Given the description of an element on the screen output the (x, y) to click on. 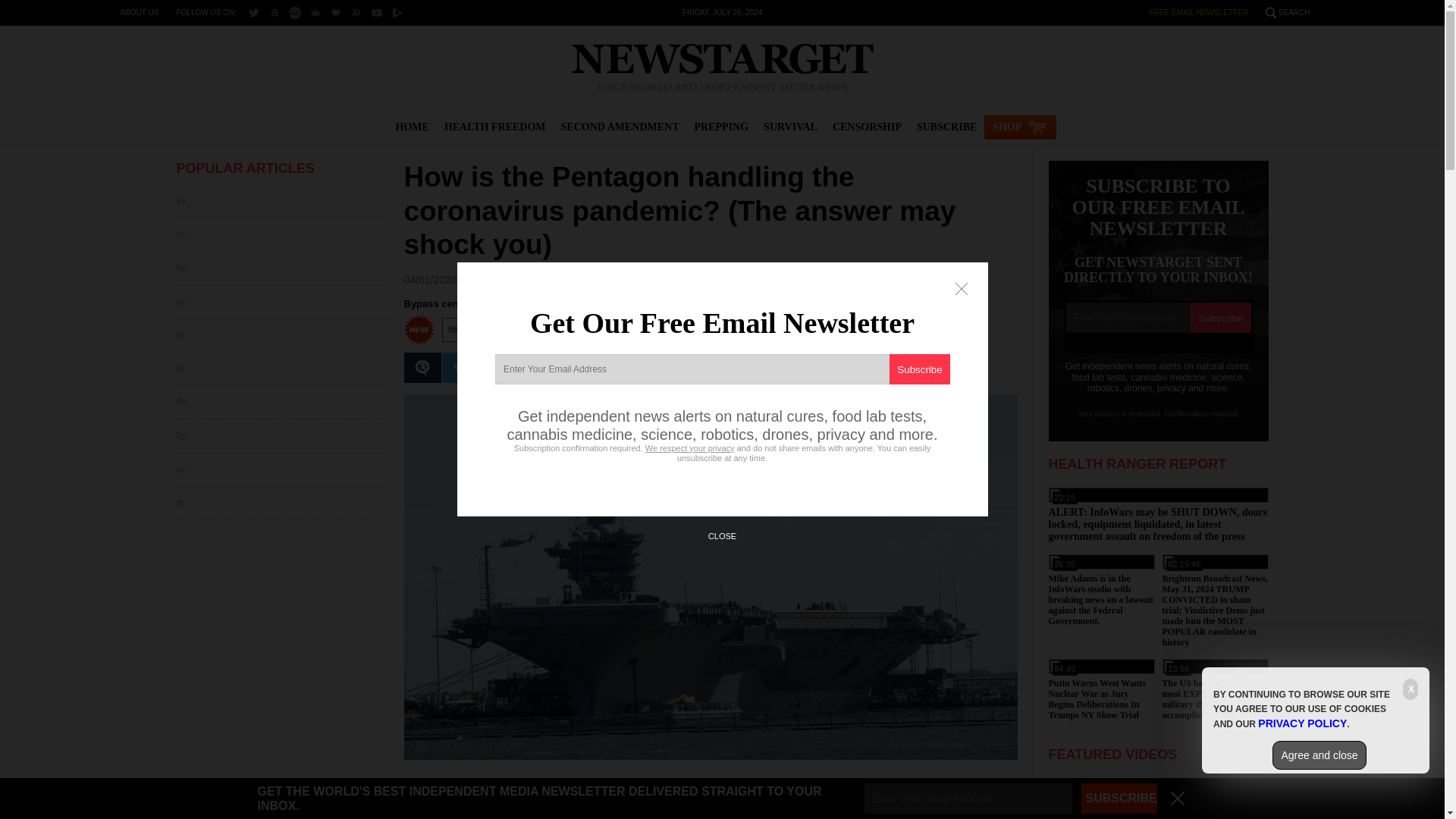
HOME (412, 127)
MeWe (294, 12)
Second Amendment (620, 127)
Copy URL (866, 329)
CENSORSHIP (866, 127)
Health Freedom (494, 127)
Subscribe (946, 127)
Censorship (866, 127)
Home (721, 58)
USA.Life (336, 12)
Prepping (722, 127)
Parler (356, 12)
Survival (790, 127)
Twitter (253, 12)
PREPPING (722, 127)
